Given the description of an element on the screen output the (x, y) to click on. 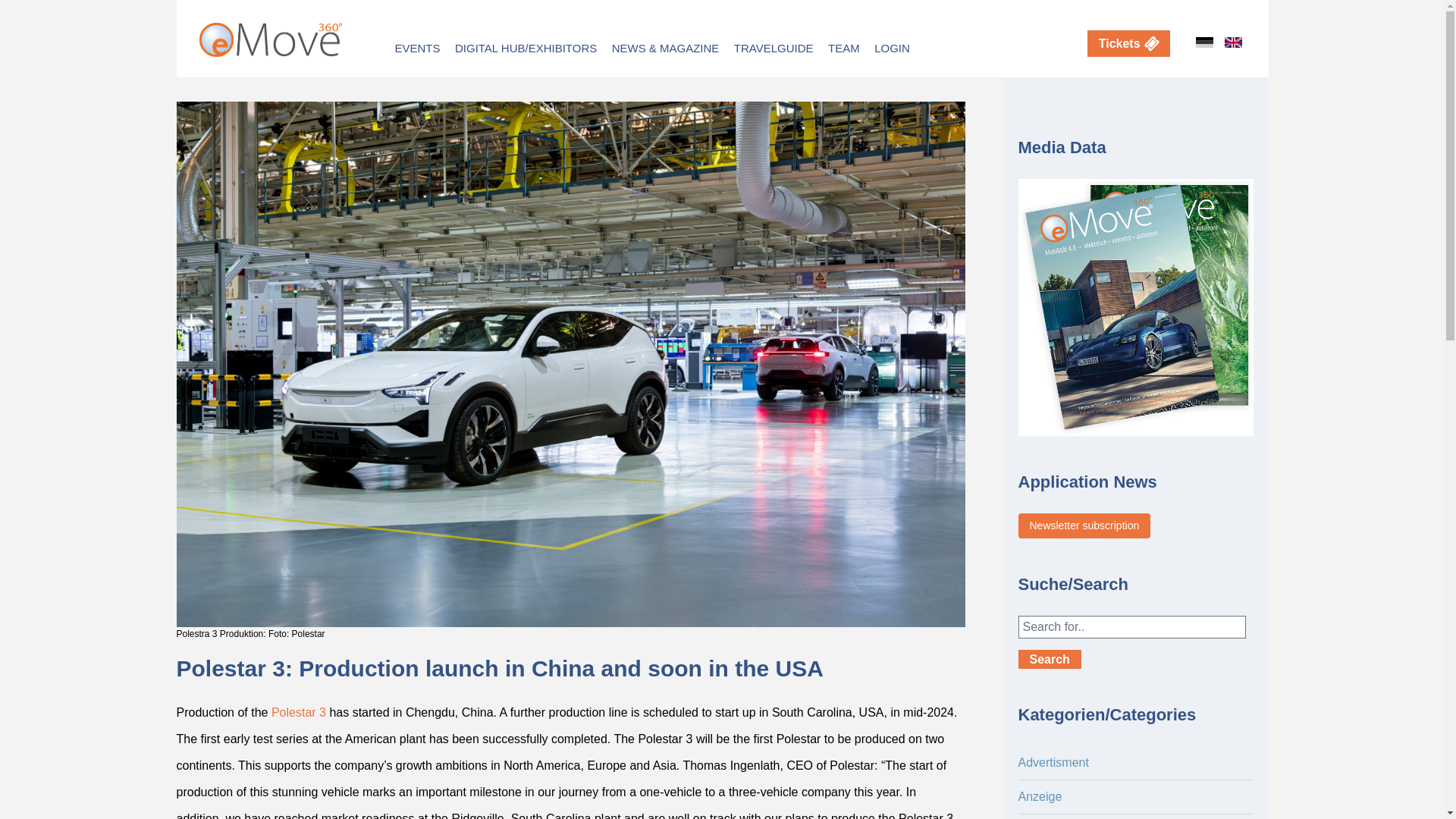
Polestar 3 (298, 712)
TEAM (844, 47)
Advertisment (1052, 762)
LOGIN (892, 47)
EVENTS (416, 47)
Search (1048, 659)
Tickets (1128, 43)
TRAVELGUIDE (773, 47)
Newsletter subscription (1083, 525)
Anzeige (1039, 796)
